Given the description of an element on the screen output the (x, y) to click on. 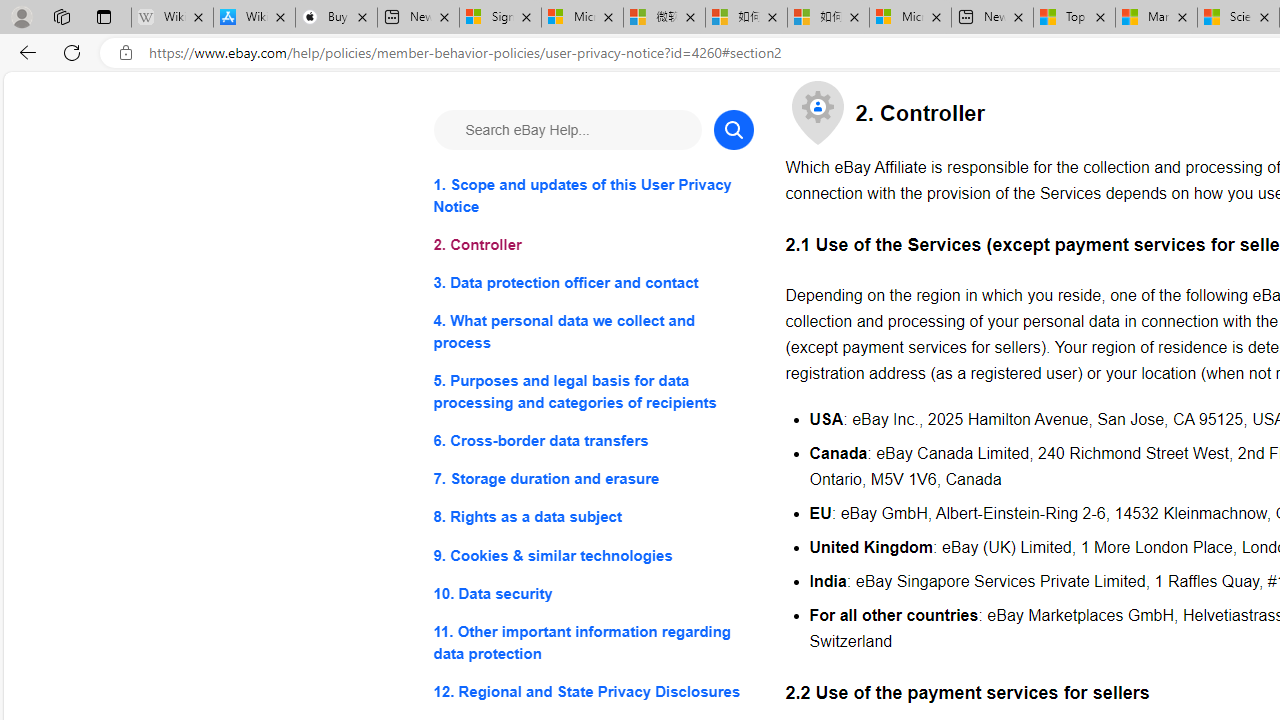
7. Storage duration and erasure (592, 479)
2. Controller (592, 245)
4. What personal data we collect and process (592, 332)
6. Cross-border data transfers (592, 440)
Workspaces (61, 16)
1. Scope and updates of this User Privacy Notice (592, 196)
12. Regional and State Privacy Disclosures (592, 690)
Close tab (1264, 16)
Buy iPad - Apple (336, 17)
9. Cookies & similar technologies (592, 555)
Sign in to your Microsoft account (500, 17)
8. Rights as a data subject (592, 517)
4. What personal data we collect and process (592, 332)
10. Data security (592, 592)
